Given the description of an element on the screen output the (x, y) to click on. 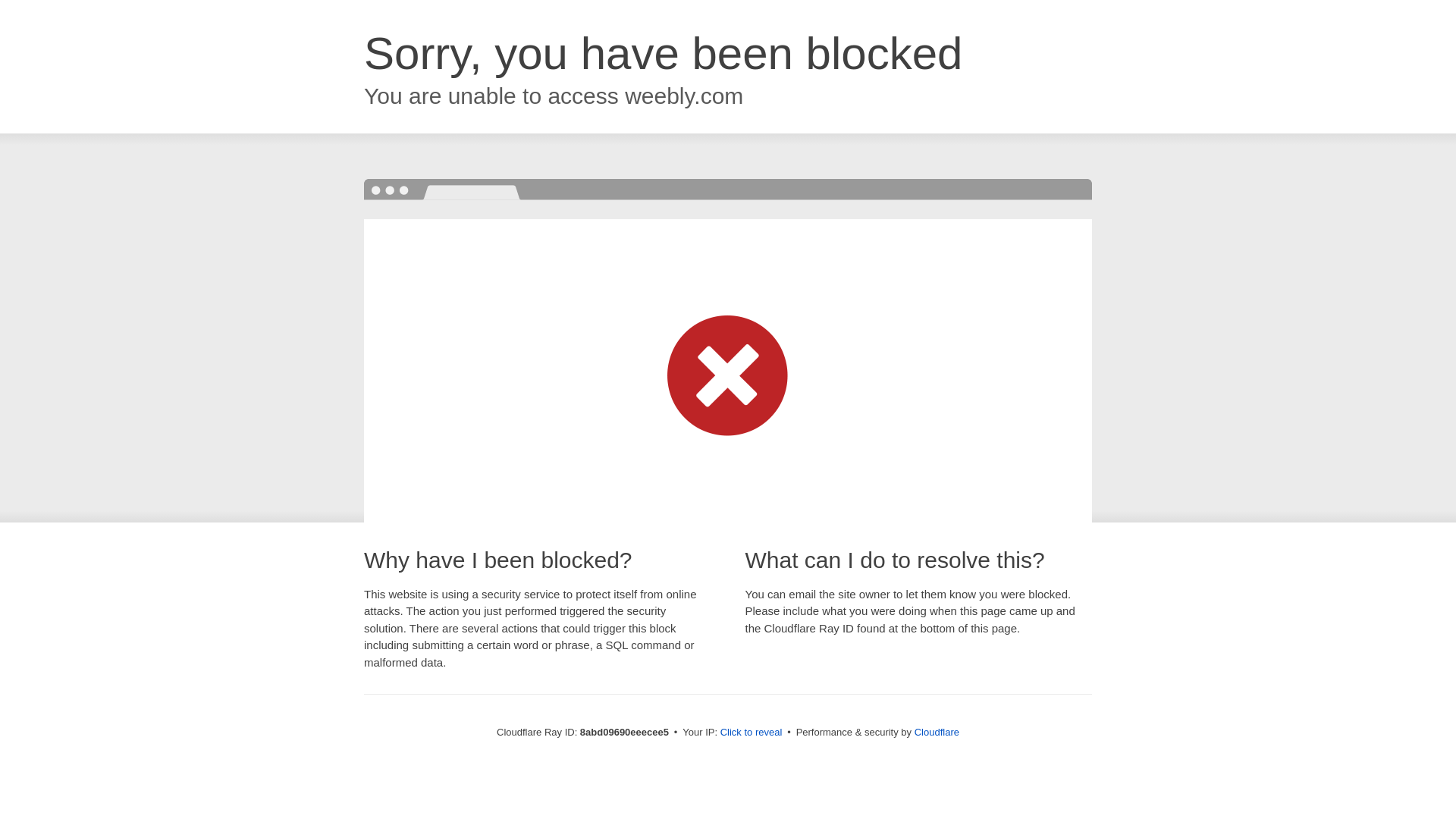
Click to reveal (750, 732)
Cloudflare (936, 731)
